Given the description of an element on the screen output the (x, y) to click on. 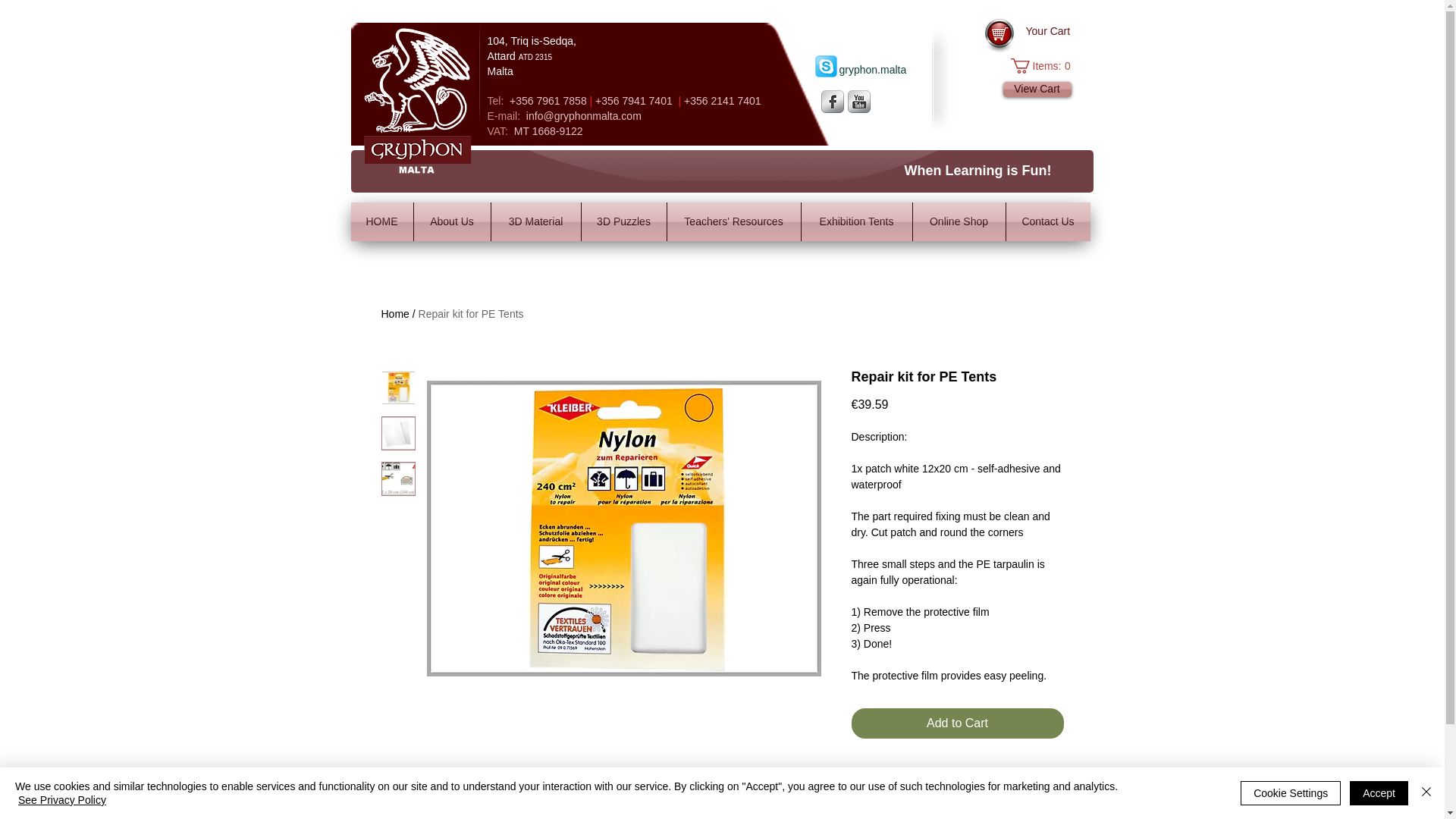
About Us (451, 221)
3D Material (536, 221)
3D Puzzles (622, 221)
Online Shop (959, 221)
HOME (381, 221)
View Cart (1036, 89)
Home (394, 313)
Exhibition Tents (855, 221)
Repair kit for PE Tents (1042, 65)
Contact Us (471, 313)
Teachers' Resources (1047, 221)
Add to Cart (733, 221)
